Given the description of an element on the screen output the (x, y) to click on. 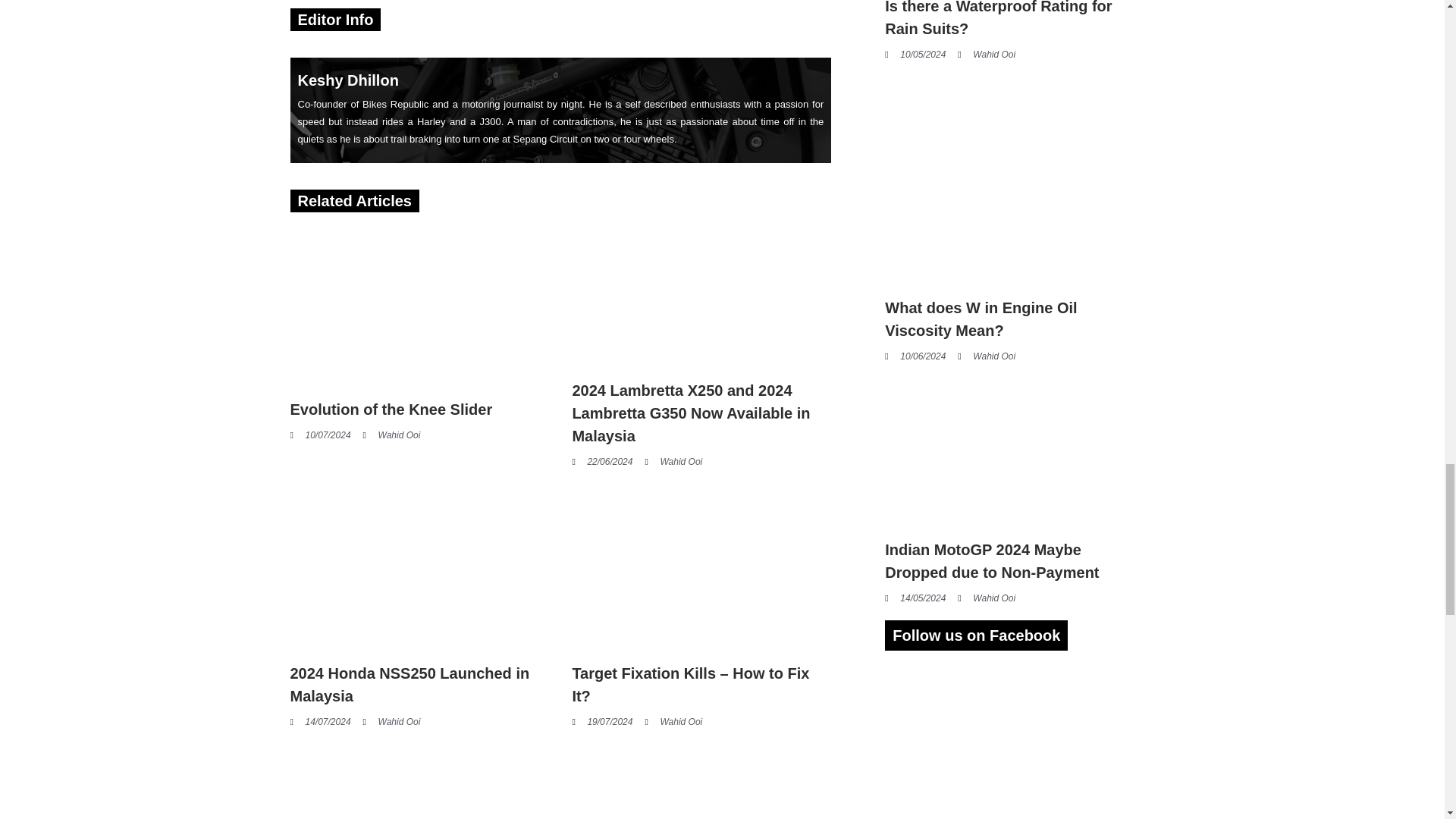
Evolution of the Knee Slider (390, 409)
Wahid Ooi (673, 461)
Wahid Ooi (391, 435)
Editor Info (334, 19)
Keshy Dhillon (347, 80)
